Given the description of an element on the screen output the (x, y) to click on. 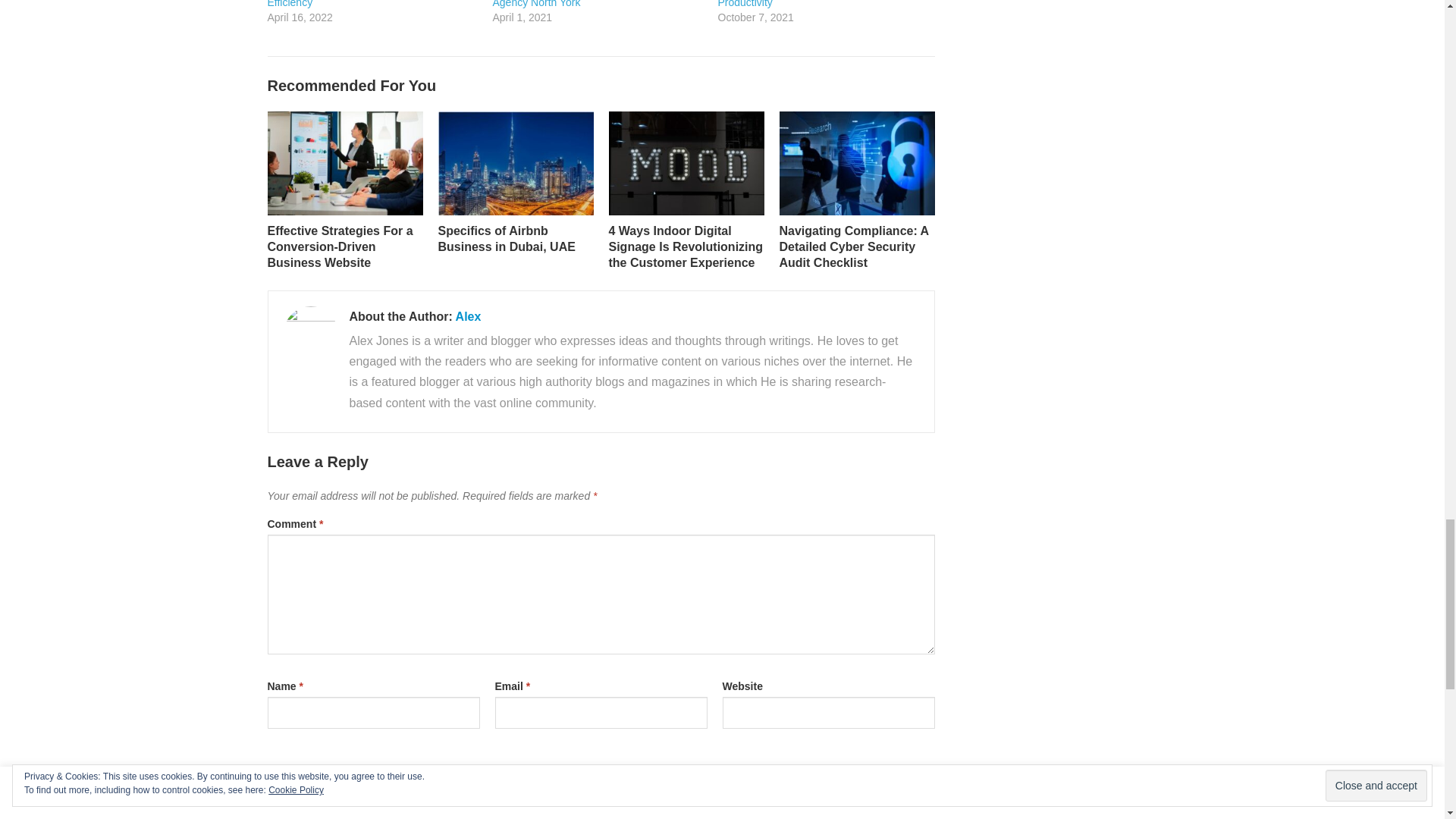
subscribe (274, 809)
subscribe (274, 776)
